Given the description of an element on the screen output the (x, y) to click on. 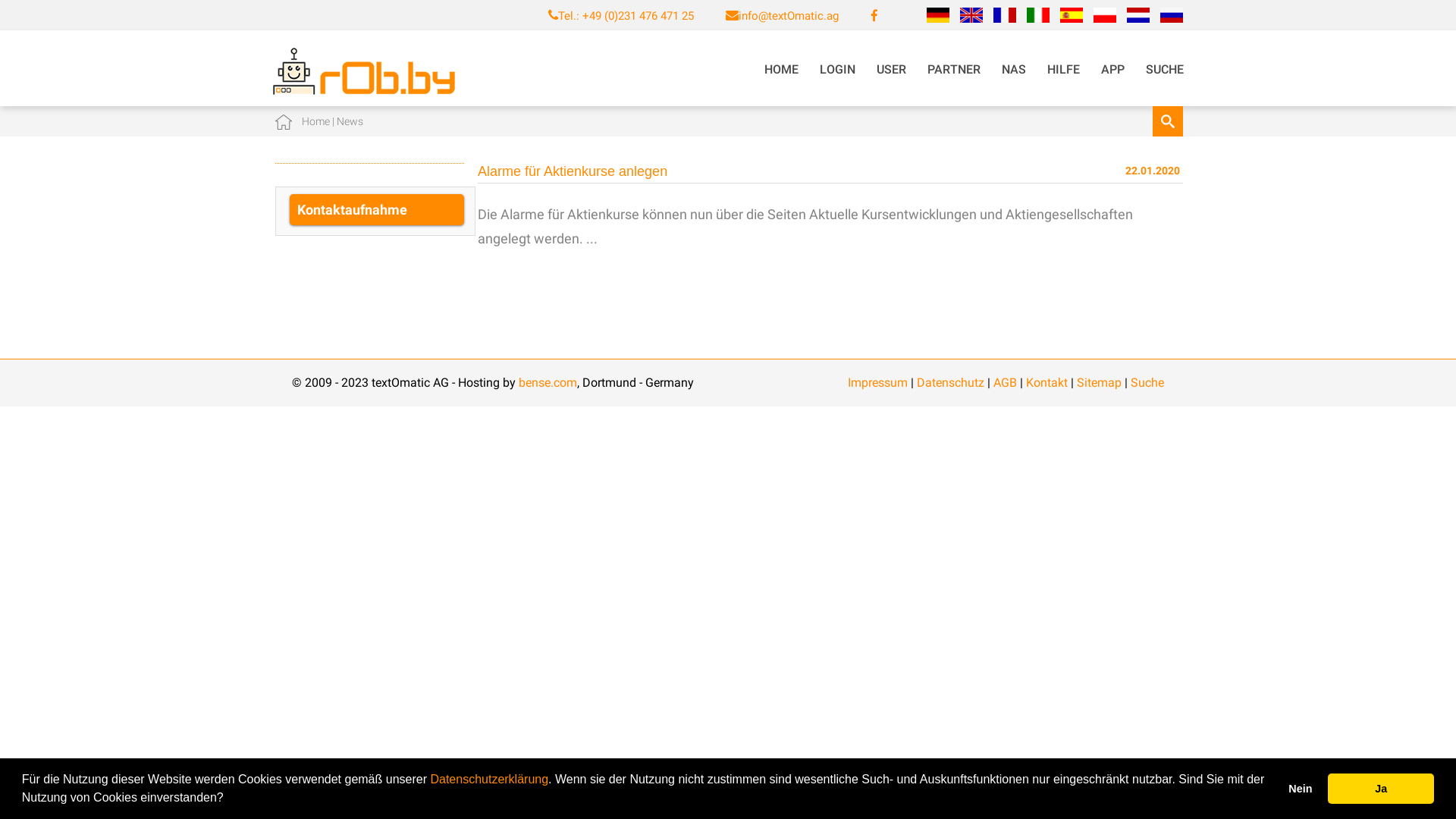
USER Element type: text (891, 69)
Ja Element type: text (1380, 788)
LOGIN Element type: text (837, 69)
AGB Element type: text (1004, 382)
Nein Element type: text (1300, 788)
info@textOmatic.ag Element type: text (788, 15)
APP Element type: text (1112, 69)
Impressum Element type: text (877, 382)
Suche Element type: text (1147, 382)
Home Element type: text (315, 121)
PARTNER Element type: text (953, 69)
HOME Element type: text (781, 69)
Sitemap Element type: text (1098, 382)
NAS Element type: text (1013, 69)
HILFE Element type: text (1063, 69)
SUCHE Element type: text (1164, 69)
Kontaktaufnahme Element type: text (376, 209)
bense.com Element type: text (547, 382)
| News Element type: text (345, 121)
Datenschutz Element type: text (950, 382)
Kontakt Element type: text (1046, 382)
